Given the description of an element on the screen output the (x, y) to click on. 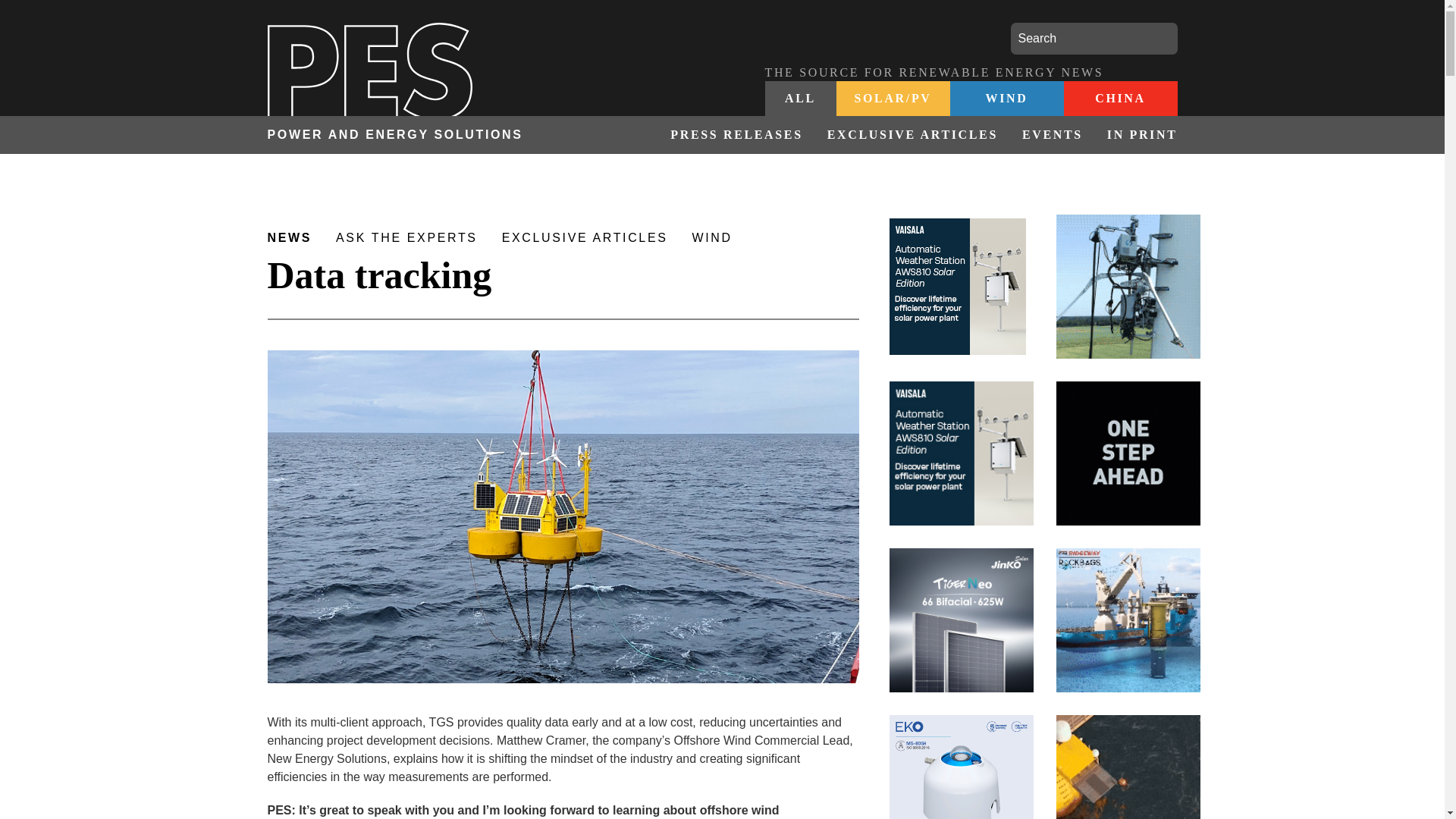
CHINA (1119, 98)
PRESS RELEASES (735, 134)
ALL (799, 98)
WIND (1005, 98)
Search for: (1093, 38)
EVENTS (1052, 134)
IN PRINT (1135, 134)
EXCLUSIVE ARTICLES (912, 134)
